Given the description of an element on the screen output the (x, y) to click on. 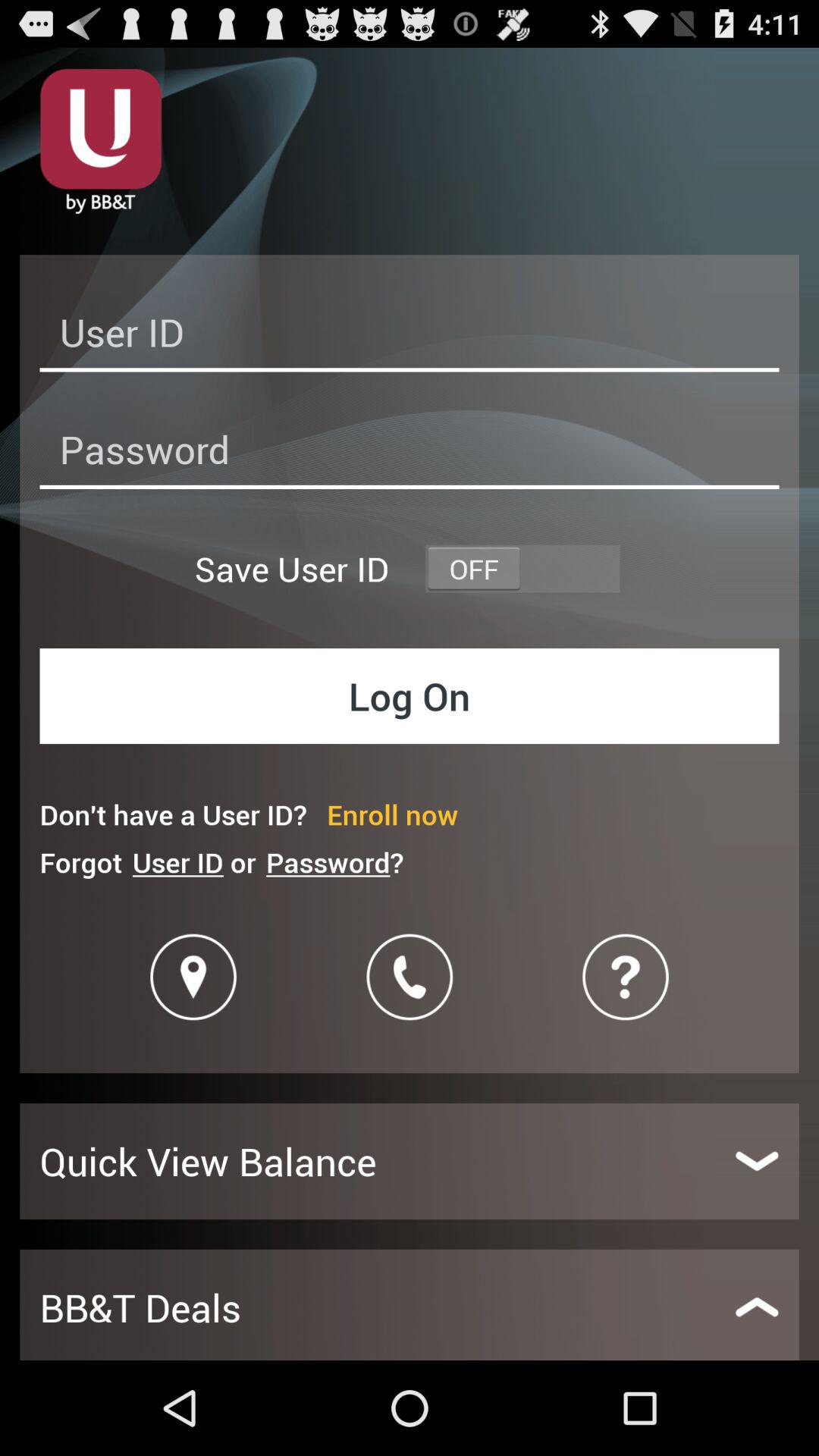
select the log on (409, 695)
